Given the description of an element on the screen output the (x, y) to click on. 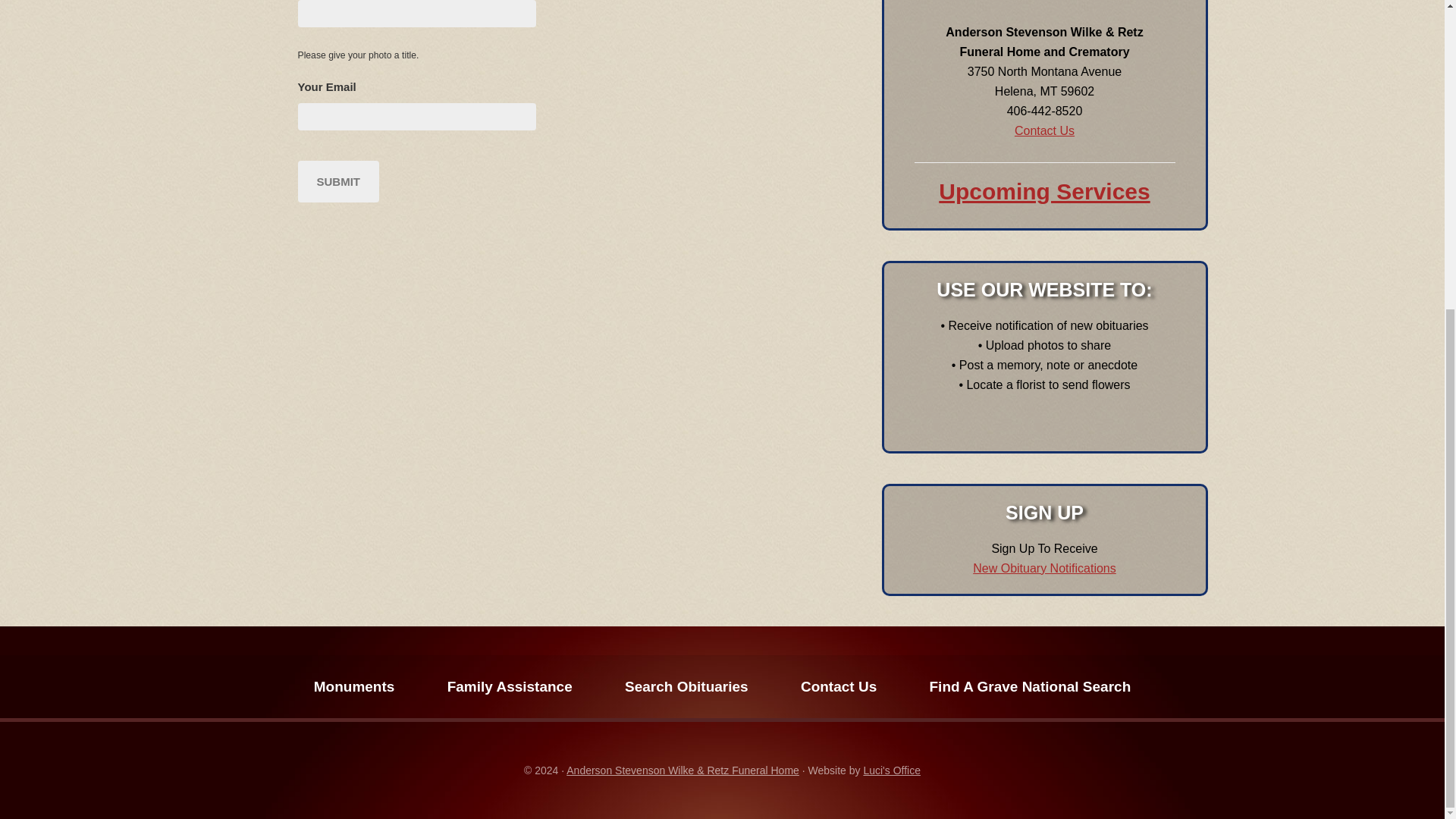
Submit (337, 181)
Find A Grave National Search (1030, 686)
Monuments (354, 686)
New Obituary Notifications (1044, 567)
Family Assistance (509, 686)
Search Obituaries (686, 686)
Luci's Office (891, 770)
Upcoming Services (1044, 191)
Contact Us (1044, 130)
Search 83 Million Grave Records (1030, 686)
Contact Us (838, 686)
Submit (337, 181)
